Given the description of an element on the screen output the (x, y) to click on. 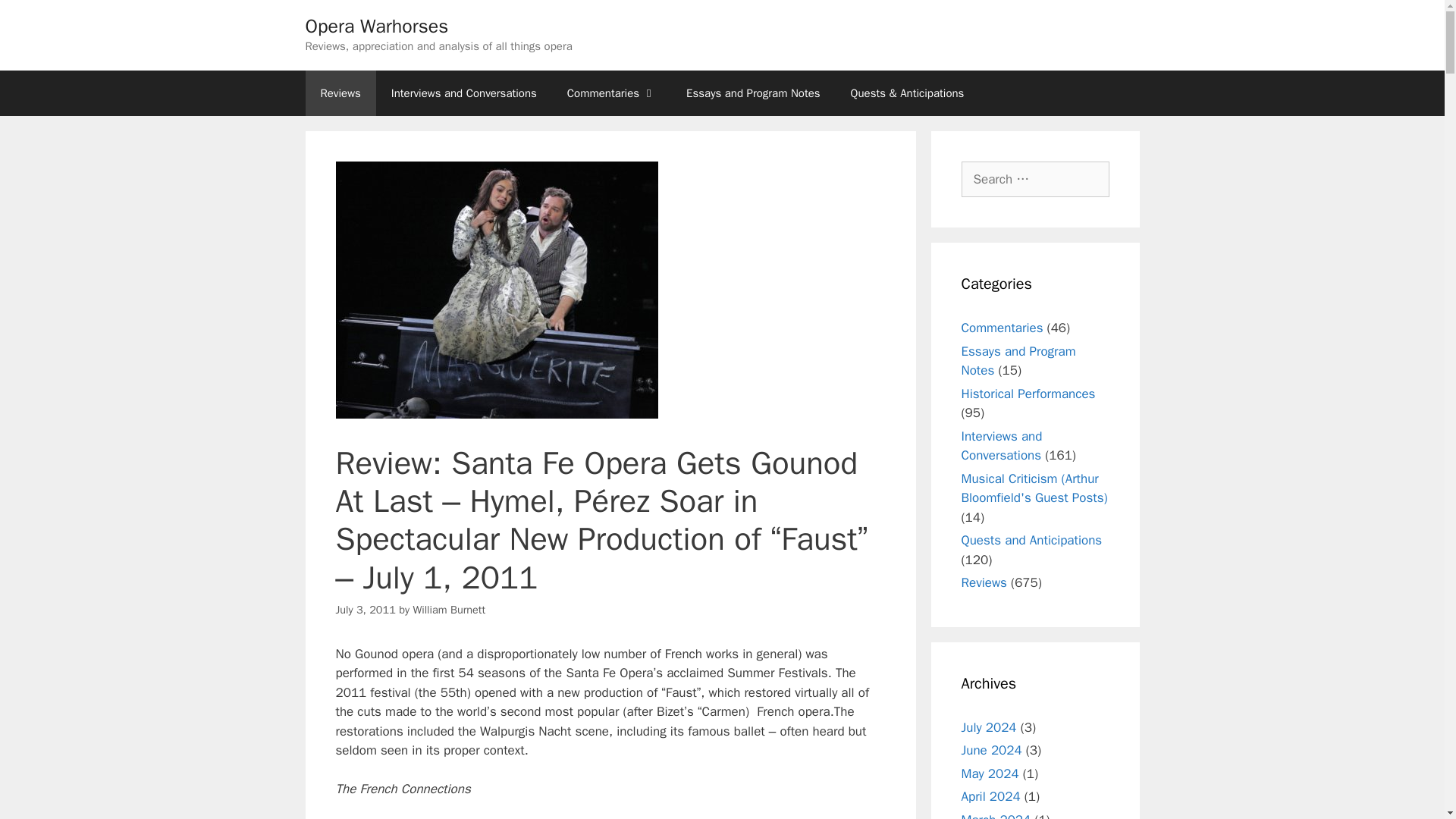
View all posts by William Burnett (448, 609)
William Burnett (448, 609)
Reviews (339, 92)
Opera Warhorses (376, 25)
Commentaries (611, 92)
Essays and Program Notes (752, 92)
Interviews and Conversations (463, 92)
